Given the description of an element on the screen output the (x, y) to click on. 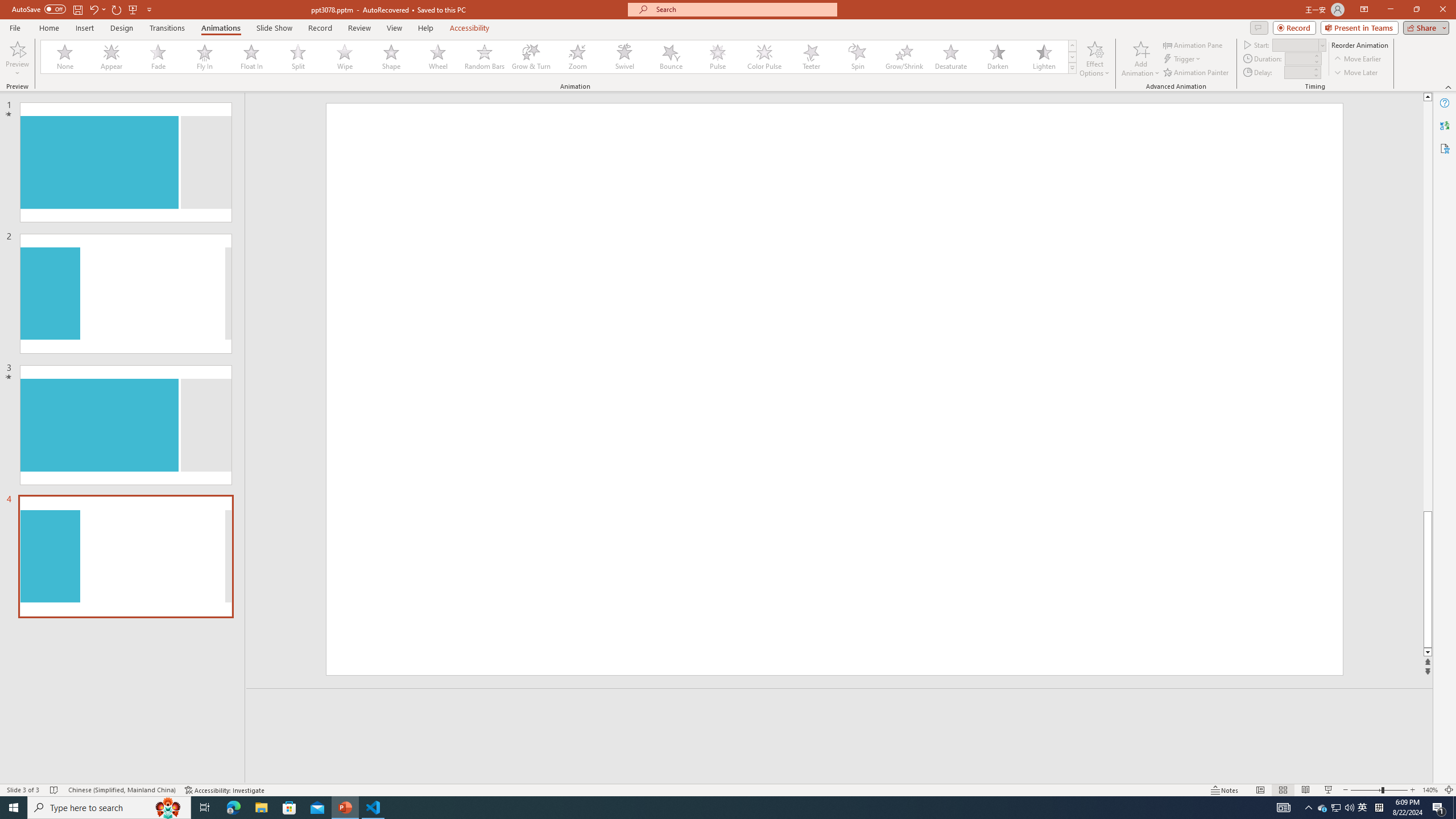
Animation Duration (1298, 58)
Add Animation (1141, 58)
Swivel (624, 56)
Split (298, 56)
None (65, 56)
Move Later (1355, 72)
